Given the description of an element on the screen output the (x, y) to click on. 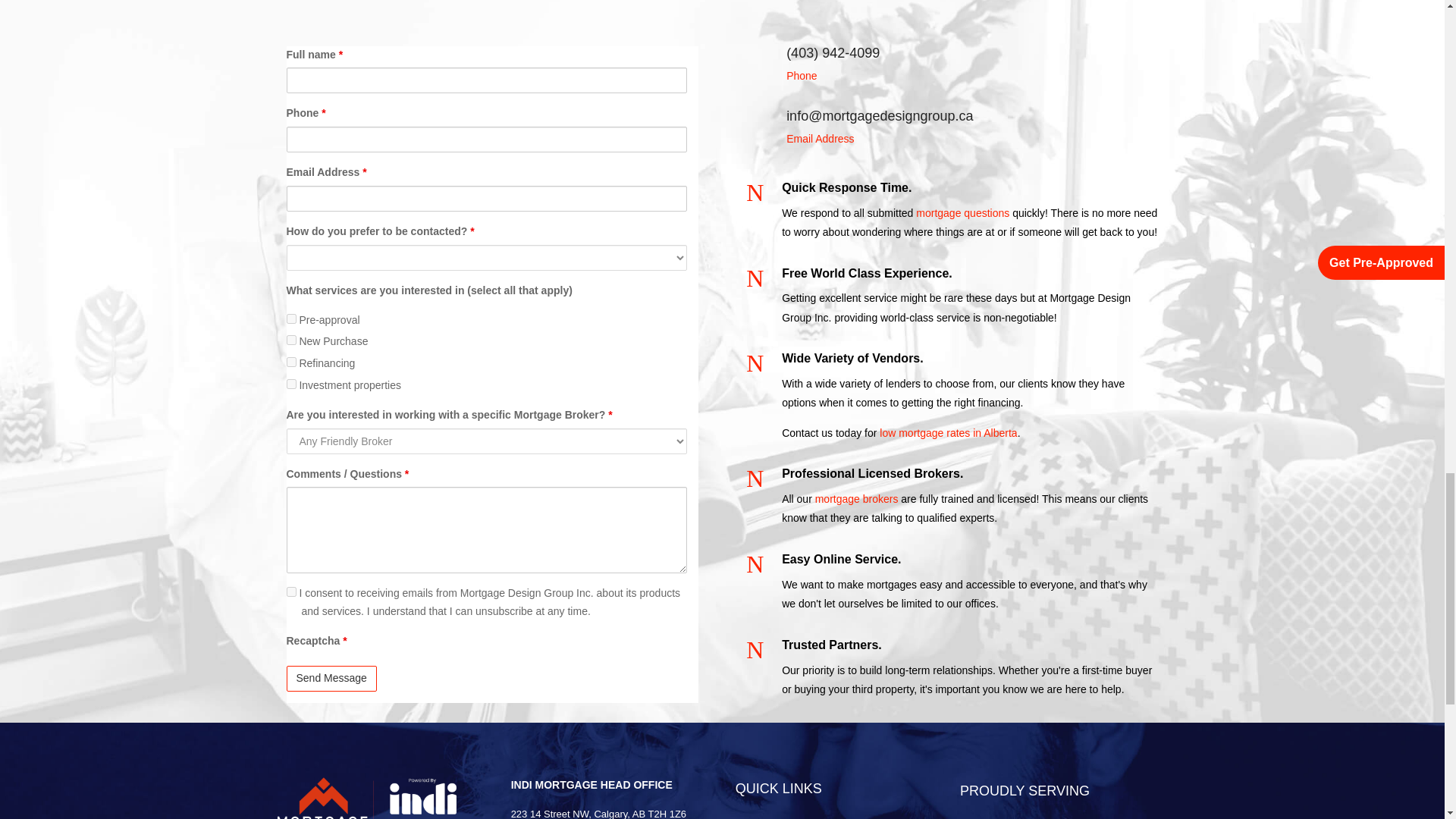
Refinancing (291, 361)
Send Message (331, 678)
New Purchase (291, 339)
Powered By (374, 796)
Investment properties (291, 384)
Pre-approval (291, 318)
